Given the description of an element on the screen output the (x, y) to click on. 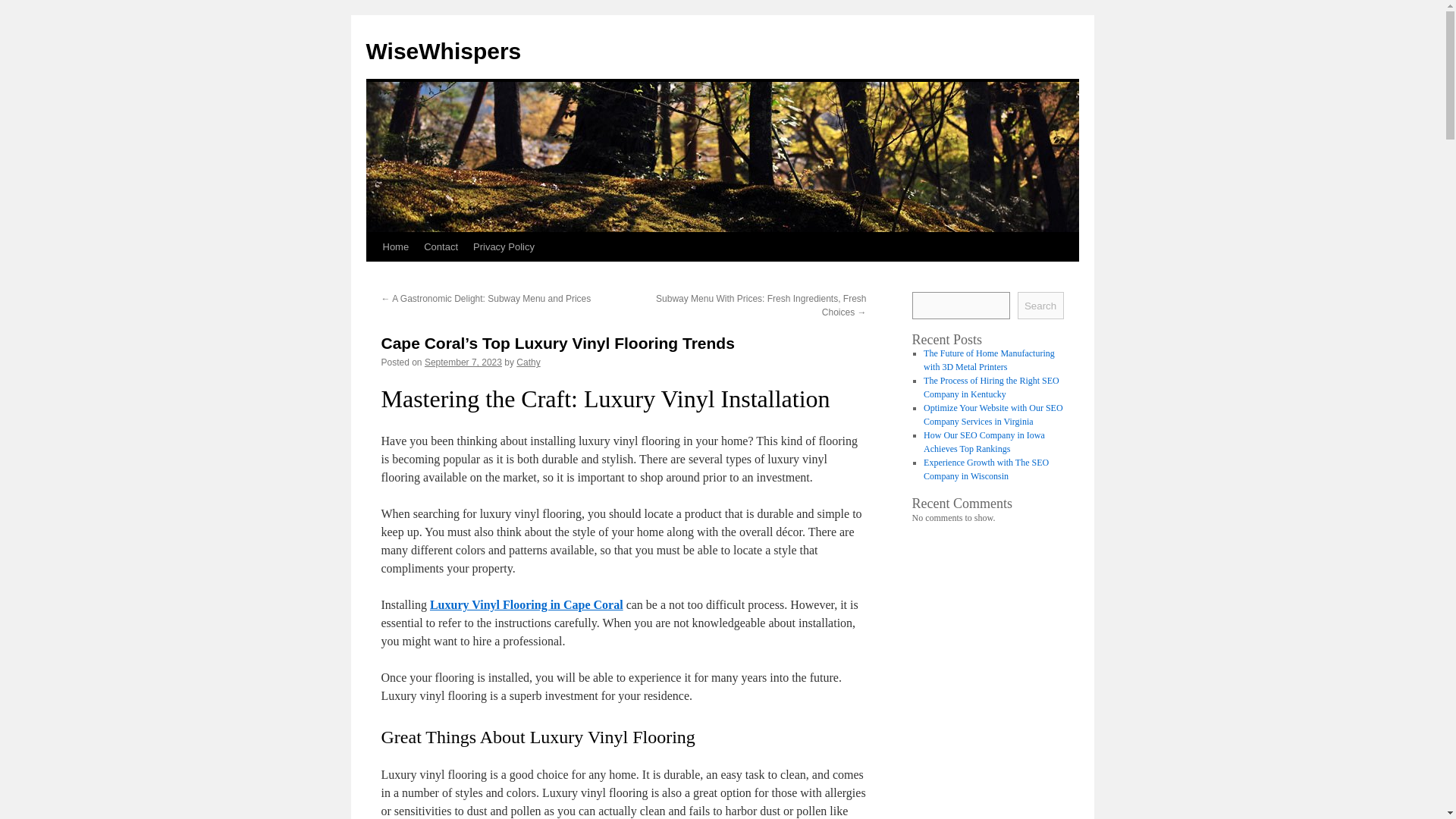
September 7, 2023 (463, 362)
Cathy (528, 362)
Privacy Policy (503, 246)
Contact (440, 246)
The Future of Home Manufacturing with 3D Metal Printers (988, 360)
Home (395, 246)
How Our SEO Company in Iowa Achieves Top Rankings (984, 441)
Search (1040, 305)
6:34 pm (463, 362)
The Process of Hiring the Right SEO Company in Kentucky (991, 387)
View all posts by Cathy (528, 362)
Skip to content (372, 274)
Experience Growth with The SEO Company in Wisconsin (985, 469)
WiseWhispers (443, 50)
